Given the description of an element on the screen output the (x, y) to click on. 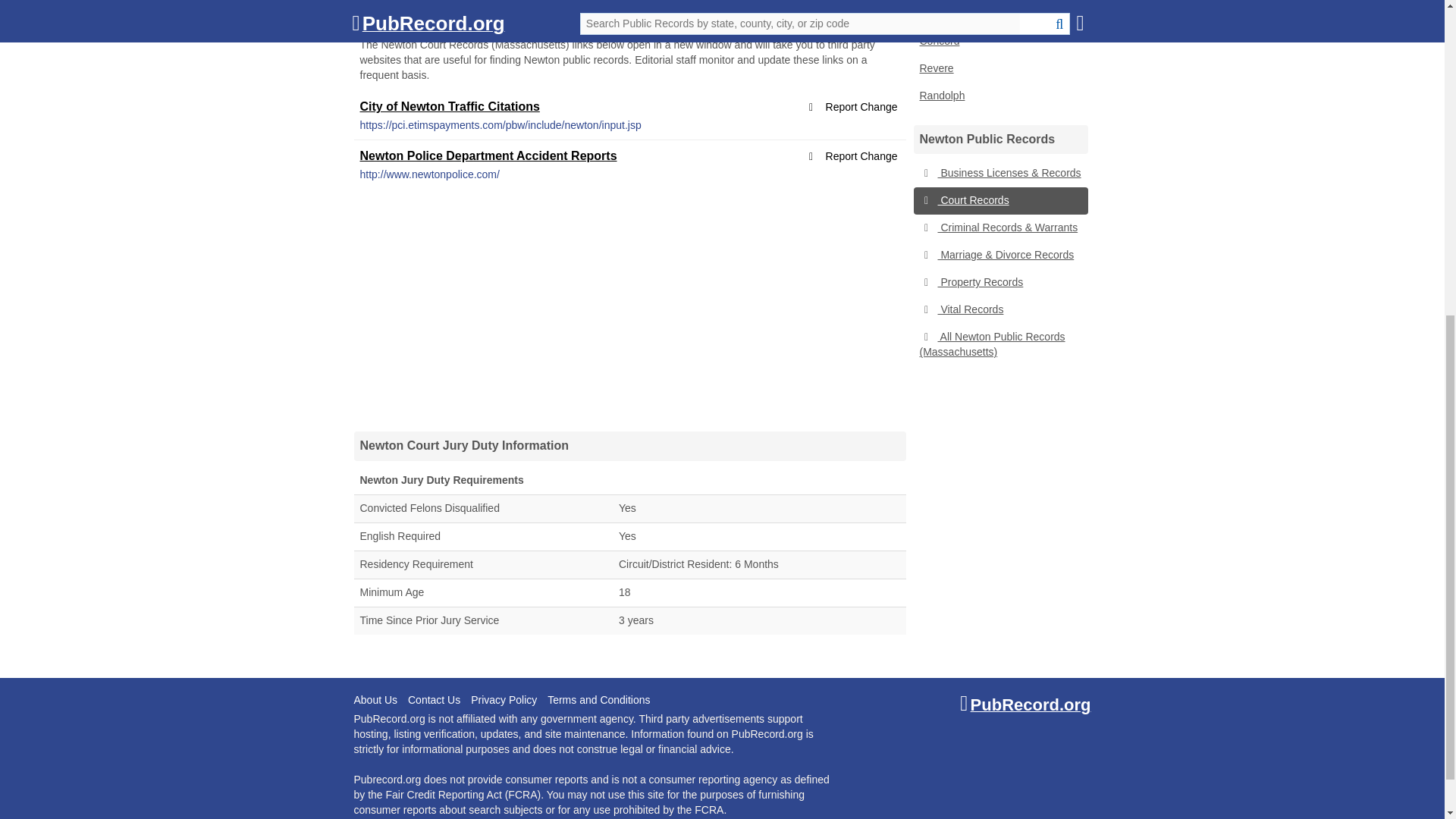
Newton Police Department Accident Reports (487, 155)
Advertisement (629, 309)
Newton Police Department Accident Reports (487, 155)
City of Newton Traffic Citations (448, 106)
Quincy (999, 13)
City of Newton Traffic Citations (448, 106)
